Given the description of an element on the screen output the (x, y) to click on. 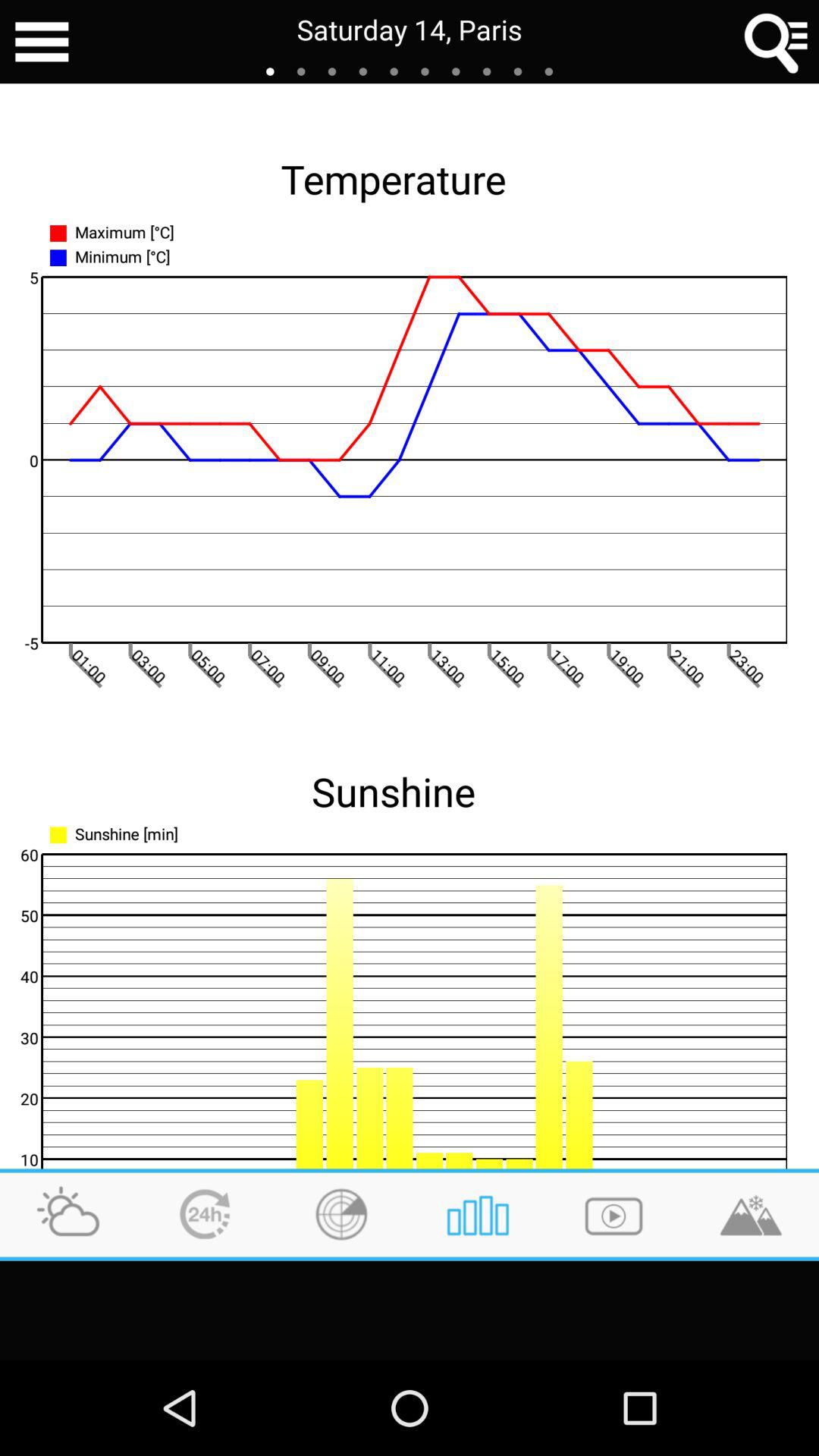
open option menu (41, 41)
